Given the description of an element on the screen output the (x, y) to click on. 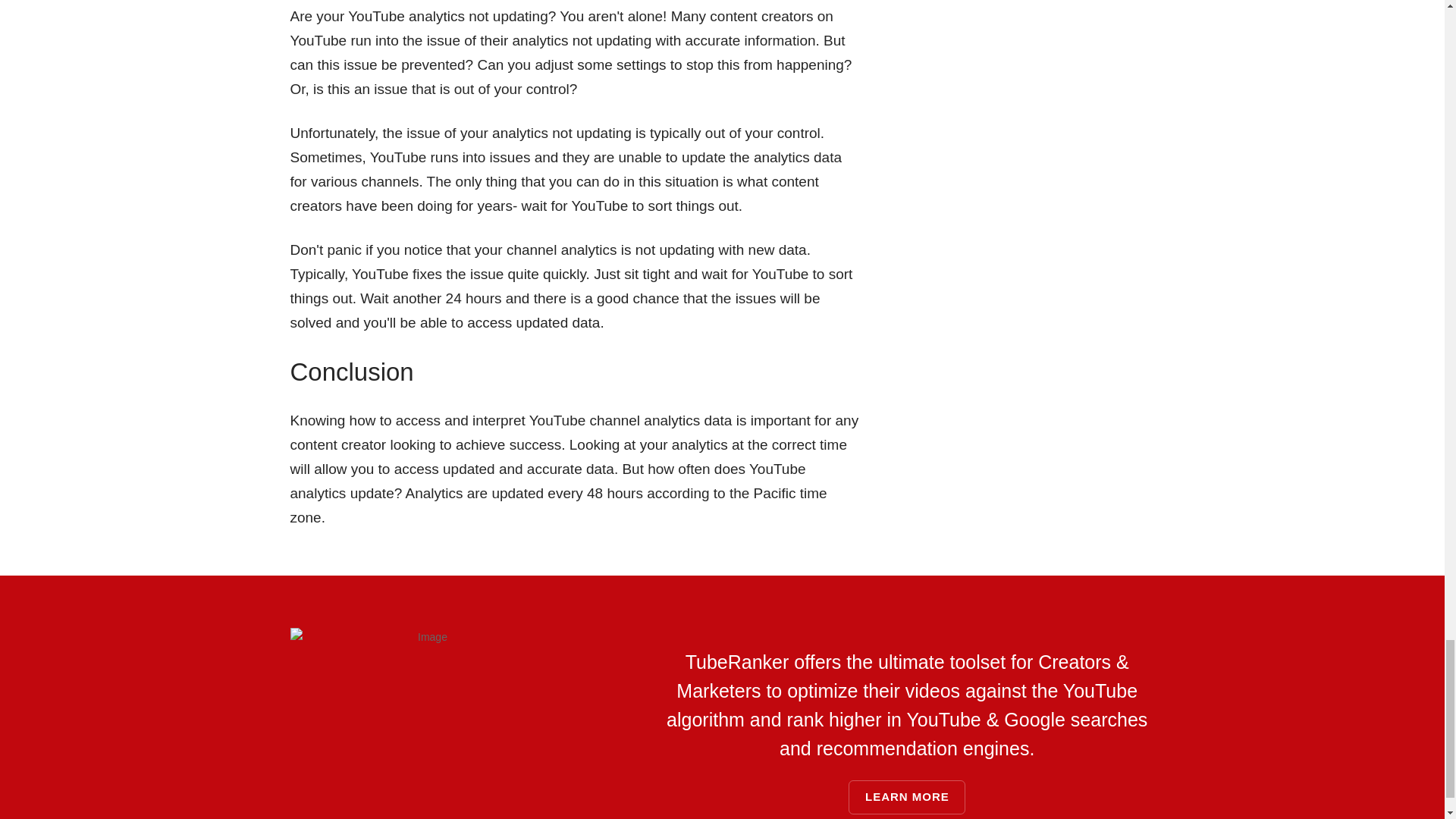
LEARN MORE (906, 797)
